Given the description of an element on the screen output the (x, y) to click on. 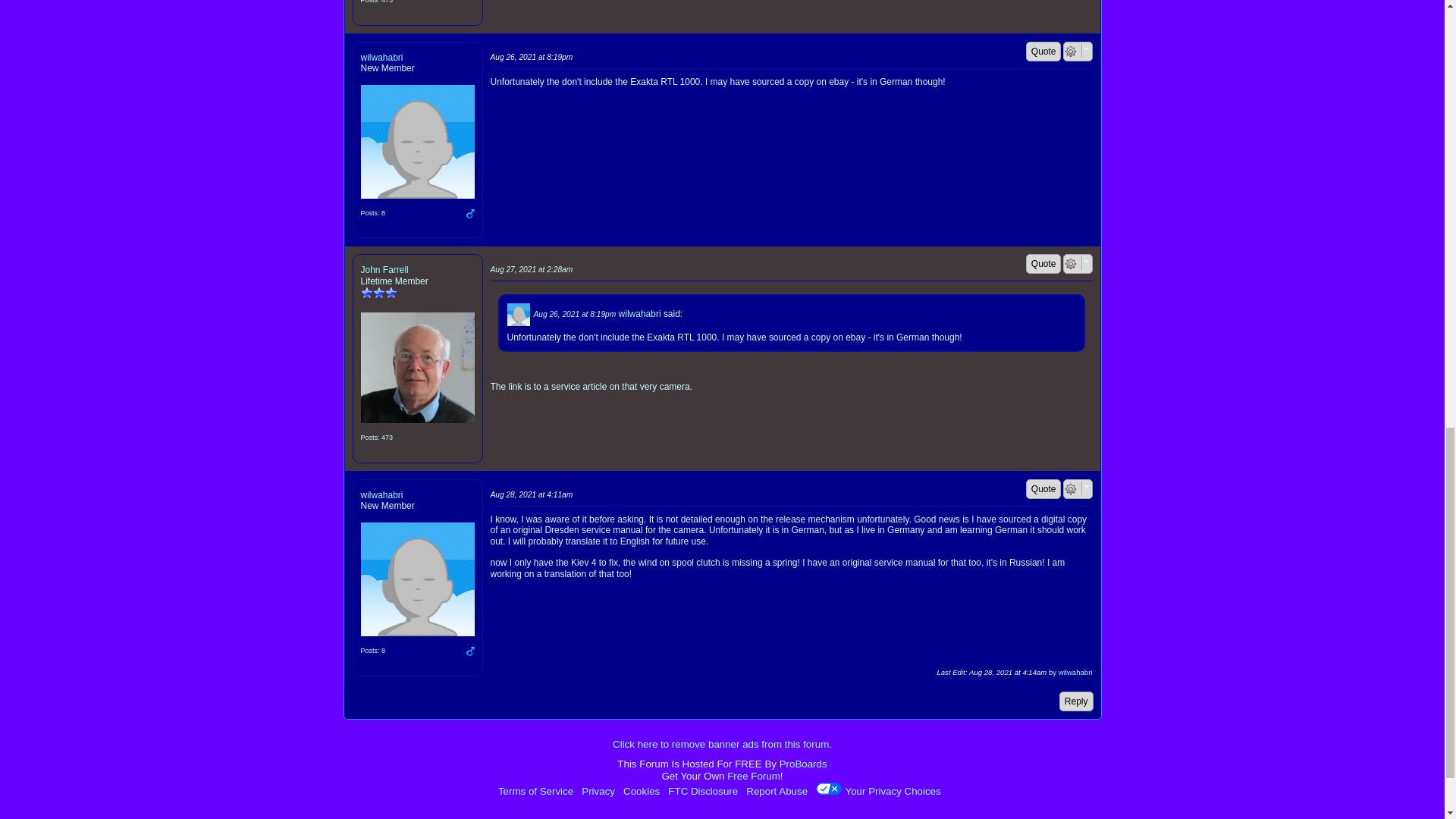
wilwahabri (417, 142)
Male (469, 213)
